Given the description of an element on the screen output the (x, y) to click on. 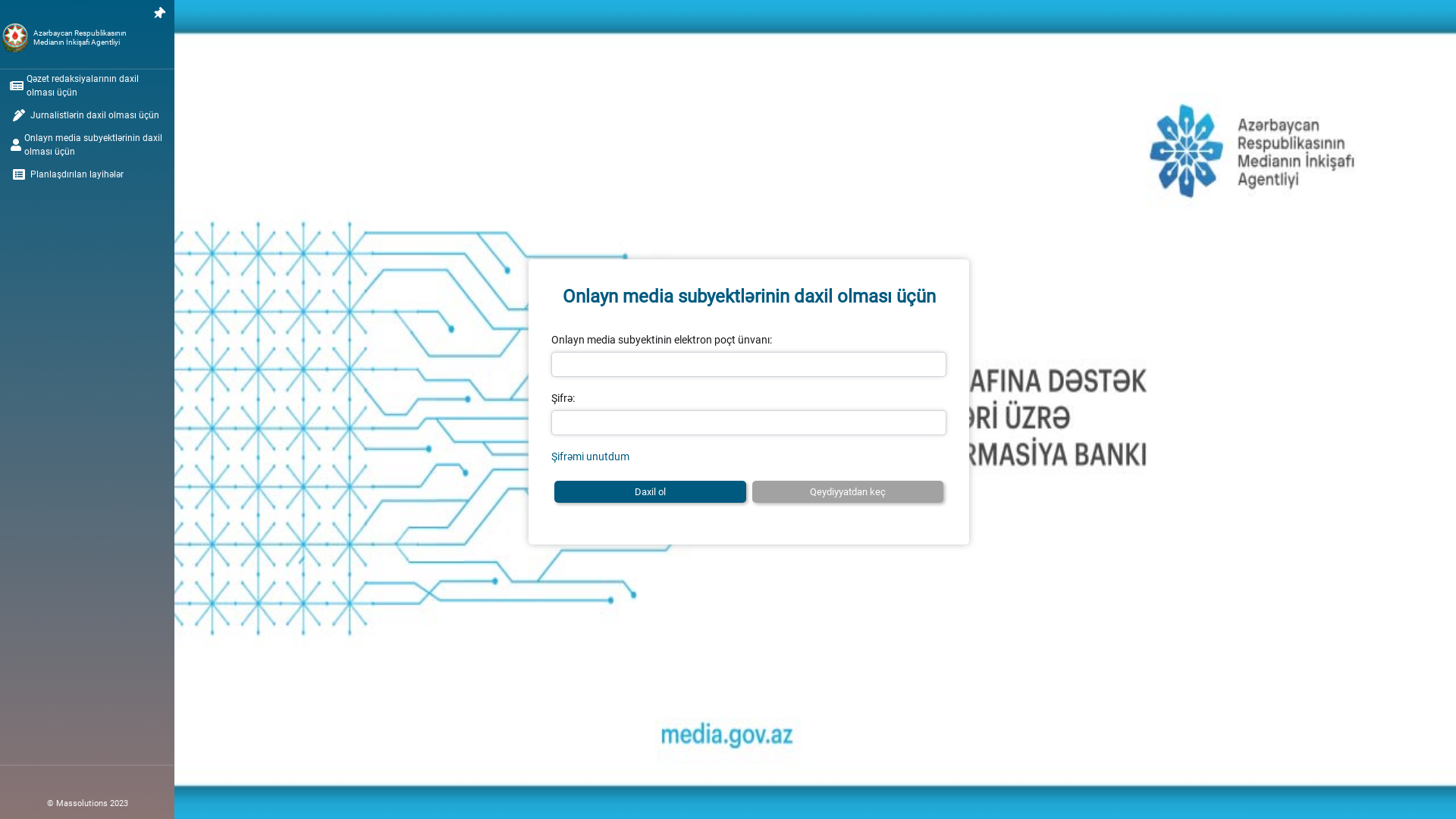
Daxil ol Element type: text (650, 491)
